Given the description of an element on the screen output the (x, y) to click on. 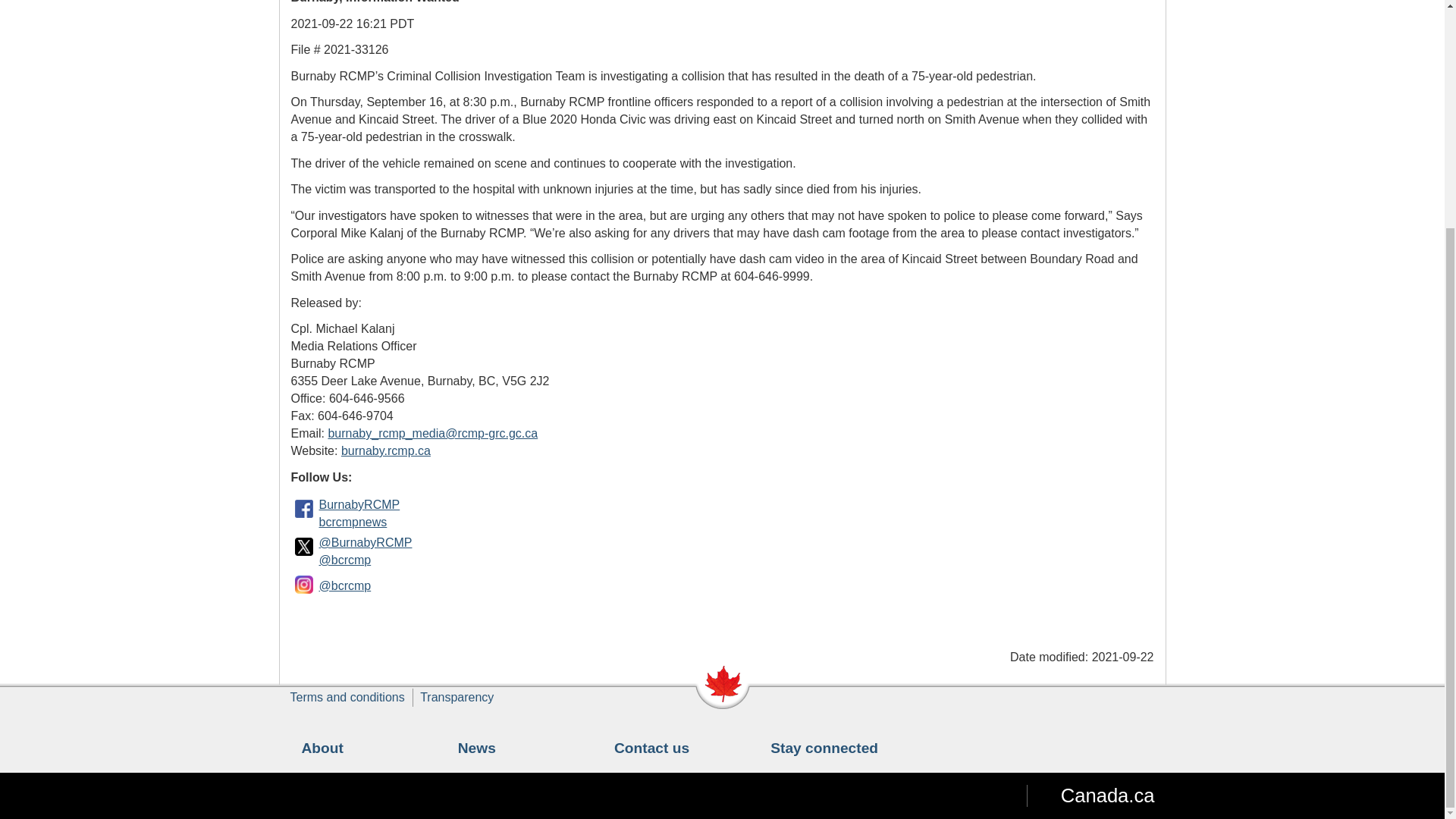
Twitter (304, 546)
Transparency (456, 697)
Terms and conditions (346, 697)
bcrcmpnews (352, 521)
BurnabyRCMP (358, 504)
About (322, 747)
Instagram (304, 584)
burnaby.rcmp.ca (385, 450)
Facebook (304, 508)
News (477, 747)
